Given the description of an element on the screen output the (x, y) to click on. 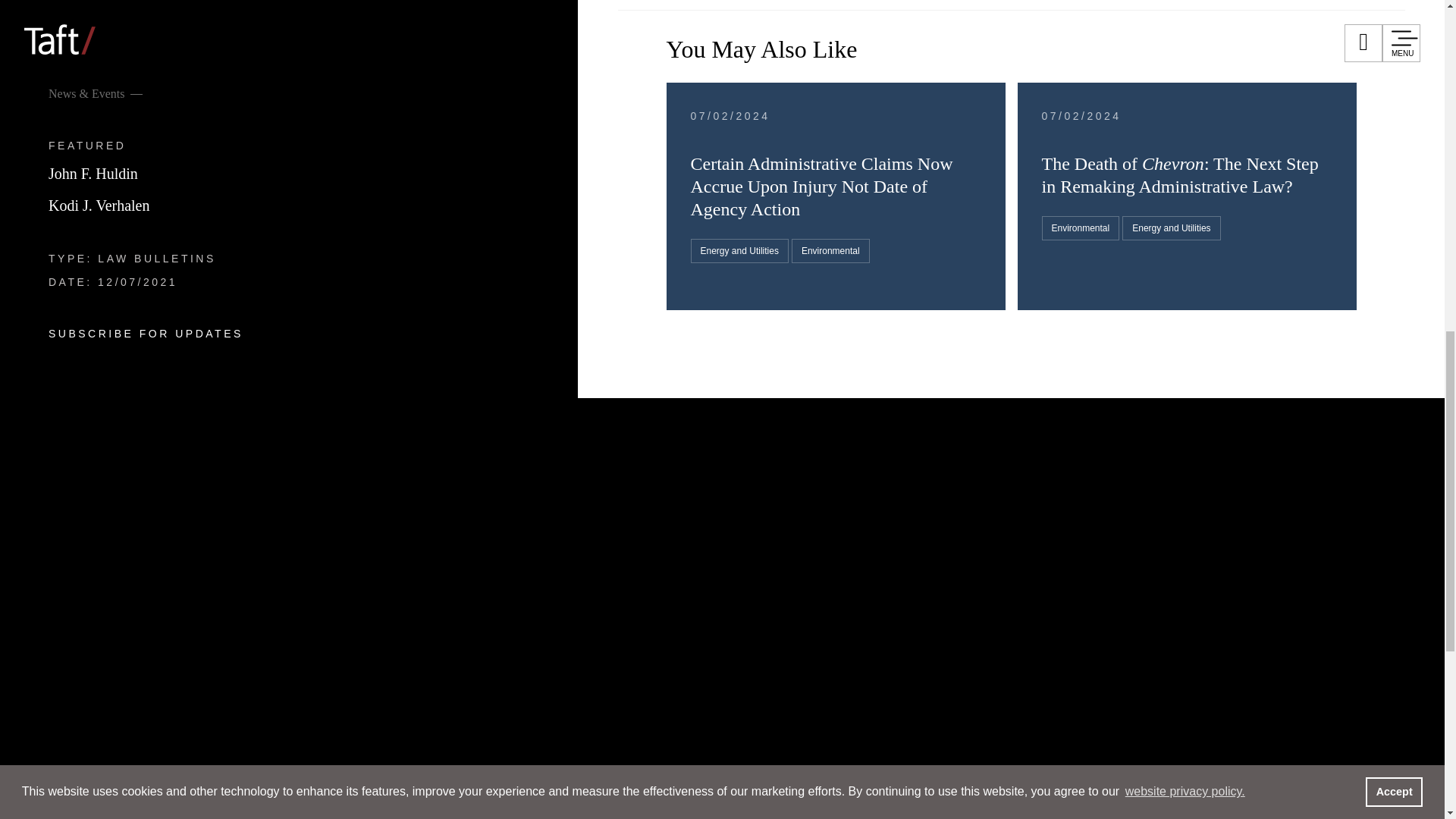
Privacy (1002, 610)
Payments (861, 636)
Accessibility (1242, 610)
Services (144, 265)
Subscribe (925, 610)
People (129, 176)
Terms and Conditions (1114, 610)
Affiliates (753, 610)
Contact Us (836, 610)
Careers (136, 535)
About (124, 624)
